Given the description of an element on the screen output the (x, y) to click on. 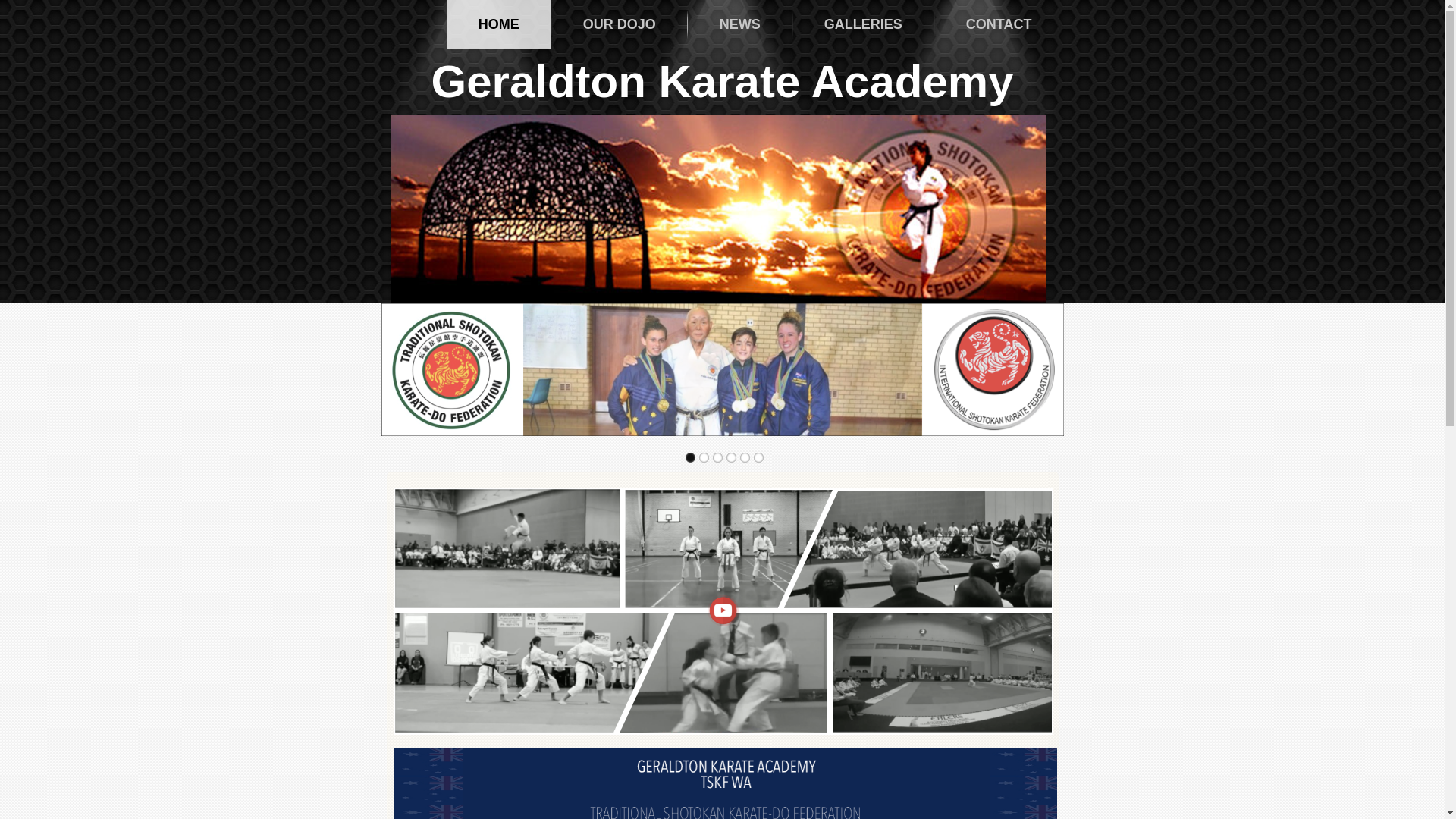
3 Element type: text (717, 457)
OUR DOJO Element type: text (619, 24)
Geraldton Karate Academy Element type: text (721, 81)
NEWS Element type: text (739, 24)
4 Element type: text (731, 457)
5 Element type: text (744, 457)
GALLERIES Element type: text (863, 24)
2 Element type: text (704, 457)
CONTACT Element type: text (999, 24)
6 Element type: text (758, 457)
1 Element type: text (690, 457)
HOME Element type: text (498, 24)
